Given the description of an element on the screen output the (x, y) to click on. 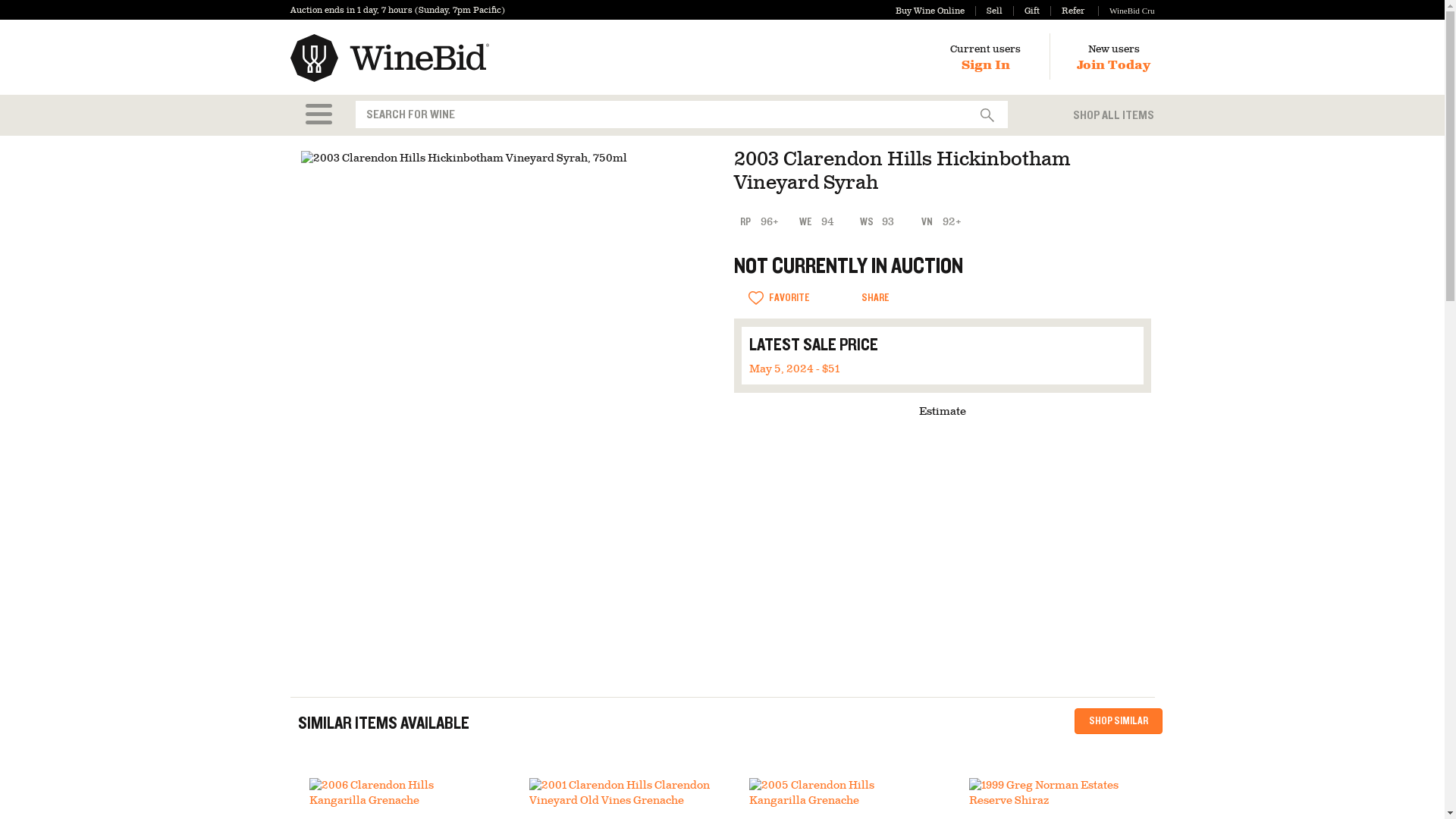
Sell (989, 10)
Refer (1066, 10)
Gift (1026, 10)
WineBid Cru (1125, 10)
Sign In (985, 64)
Join Today (1113, 64)
Buy Wine Online (929, 10)
